Given the description of an element on the screen output the (x, y) to click on. 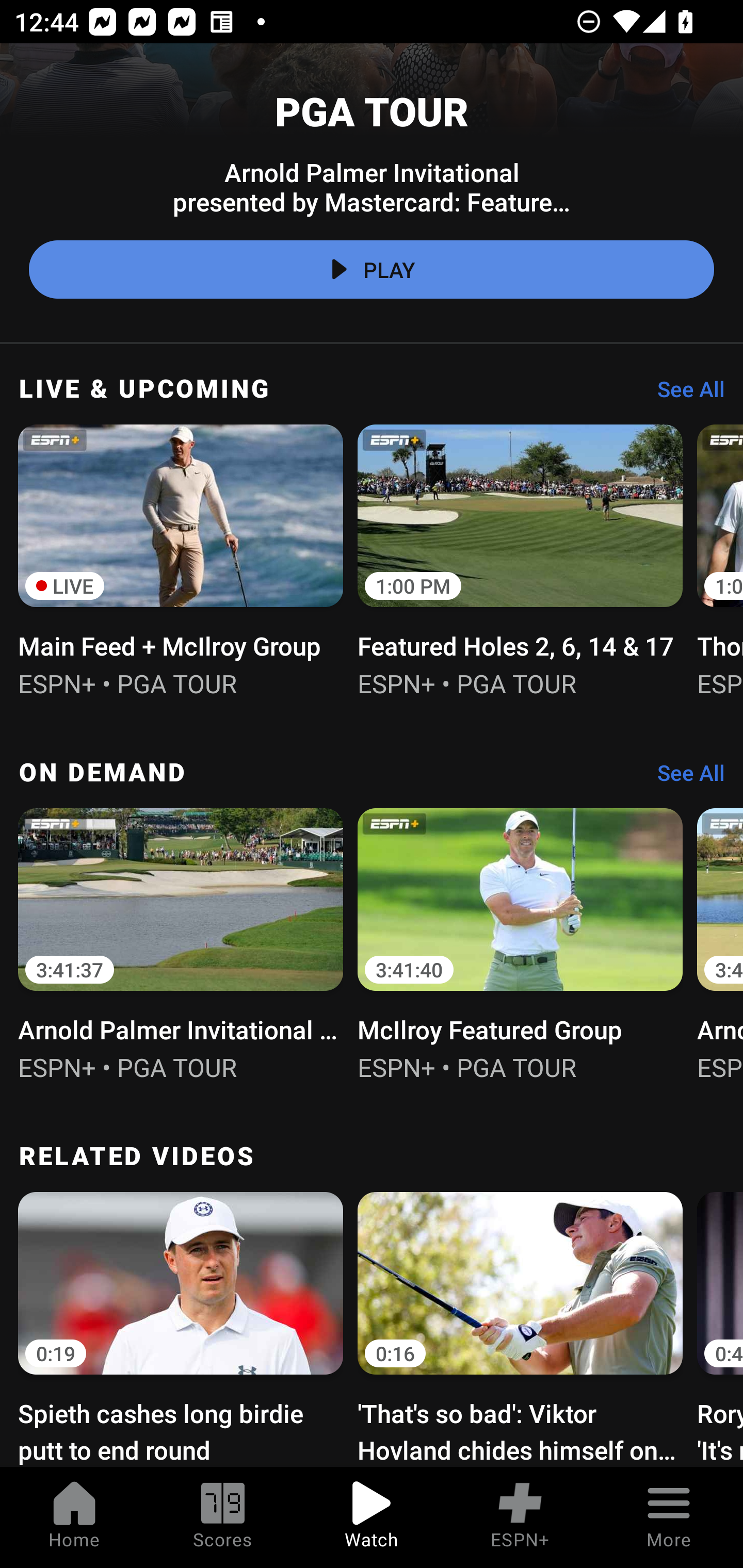
PLAY (371, 268)
See All (683, 394)
LIVE Main Feed + McIlroy Group ESPN+ • PGA TOUR (180, 558)
See All (683, 777)
3:41:40 McIlroy Featured Group ESPN+ • PGA TOUR (519, 942)
0:19 Spieth cashes long birdie putt to end round (180, 1326)
Home (74, 1517)
Scores (222, 1517)
ESPN+ (519, 1517)
More (668, 1517)
